Given the description of an element on the screen output the (x, y) to click on. 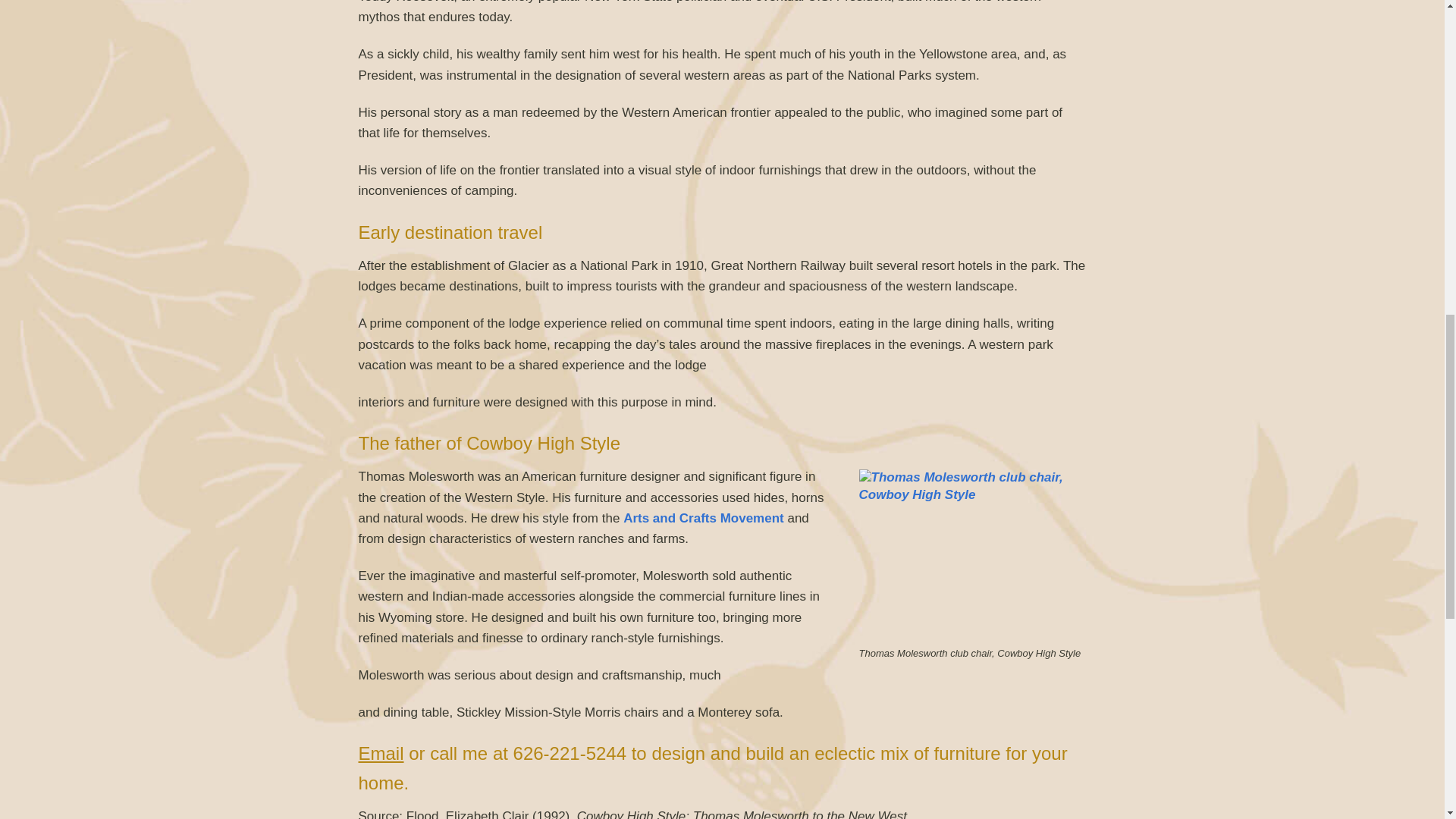
Arts and Crafts Movement (703, 518)
Email (380, 752)
